Given the description of an element on the screen output the (x, y) to click on. 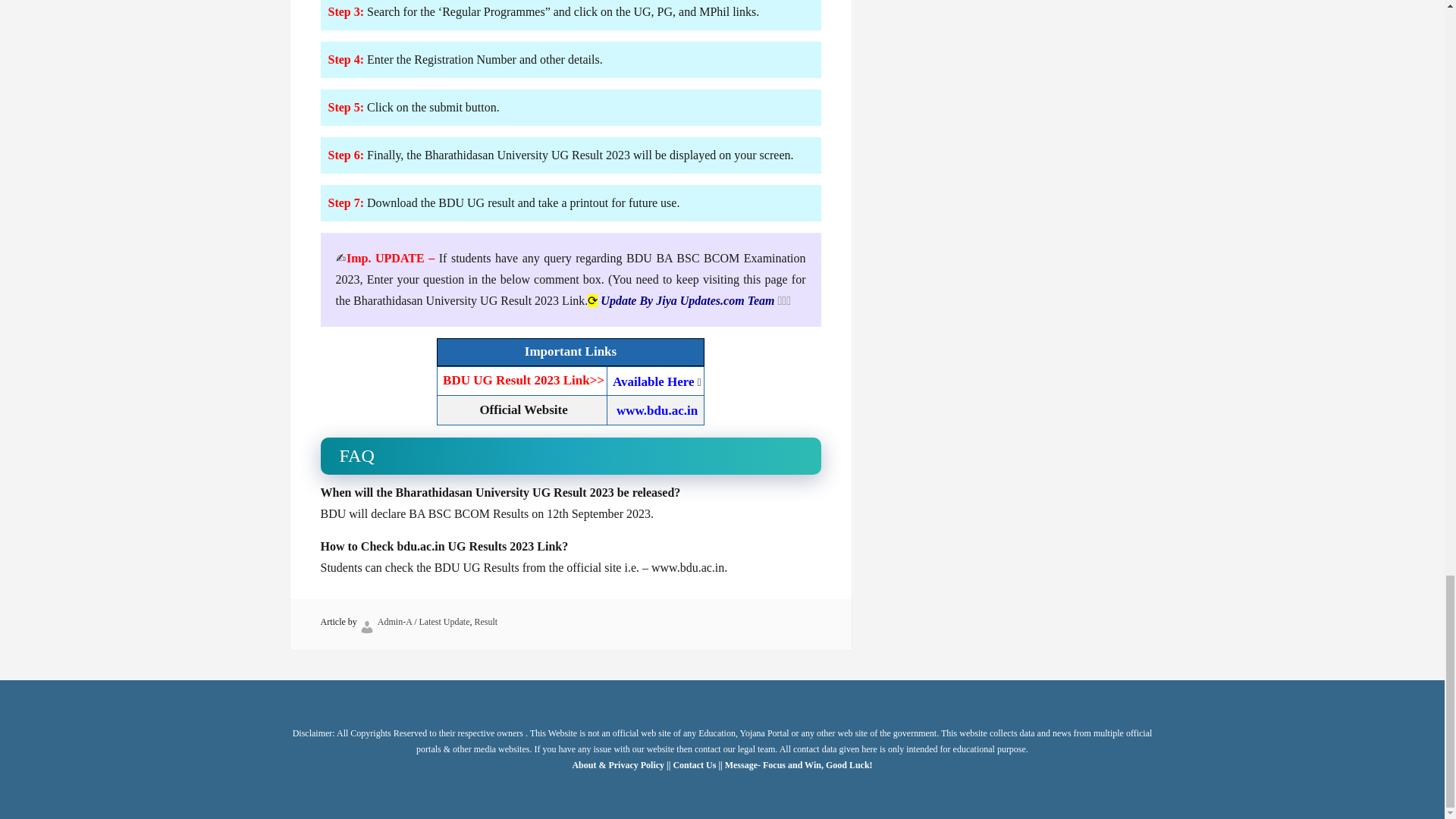
Latest Update (444, 621)
Admin-A (394, 621)
Available Here (653, 381)
Result (485, 621)
www.bdu.ac.in (656, 410)
